Given the description of an element on the screen output the (x, y) to click on. 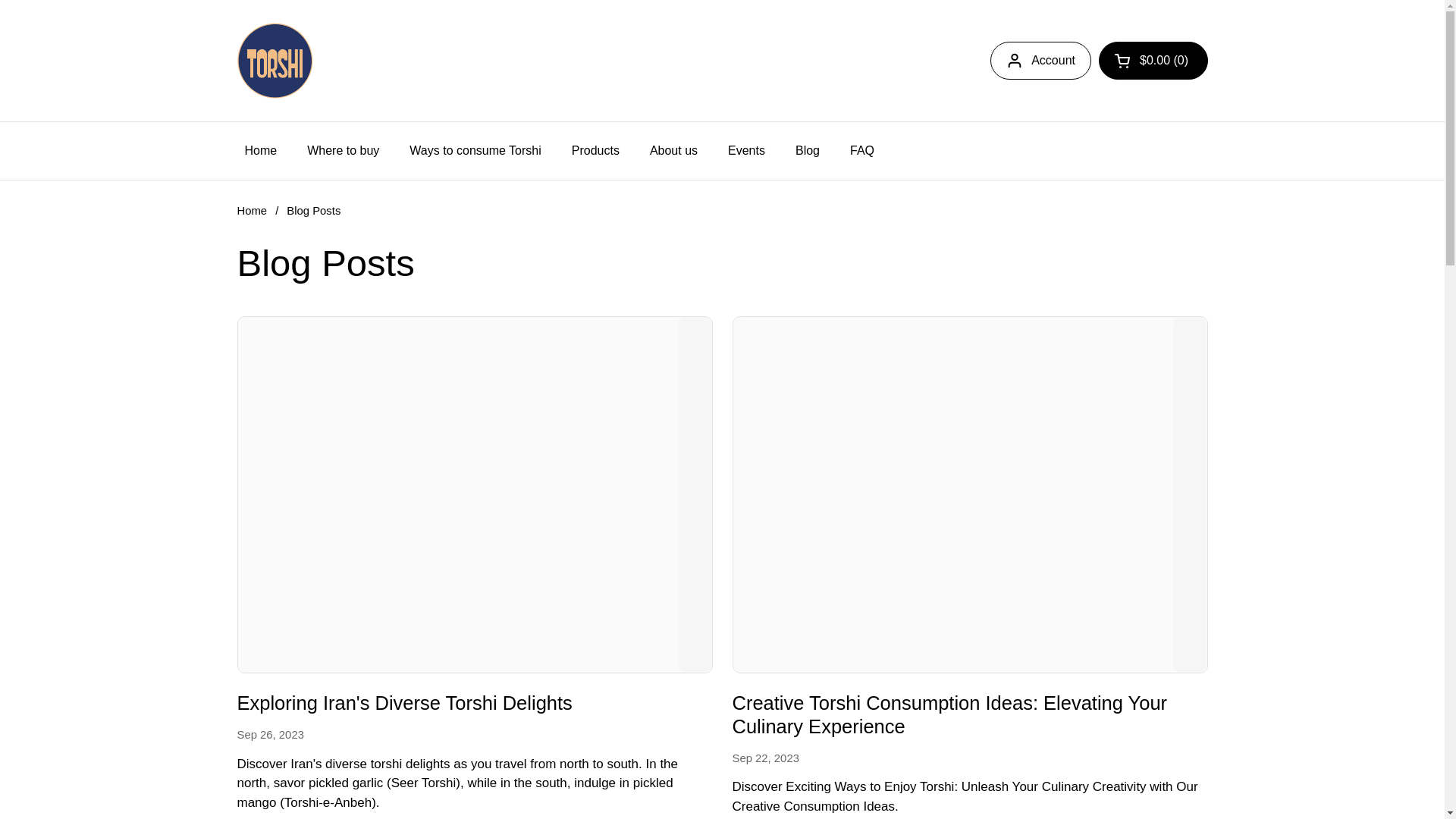
About us (673, 150)
FAQ (861, 150)
Products (595, 150)
Open cart (1153, 60)
Torshi (274, 60)
Exploring Iran's Diverse Torshi Delights (403, 705)
Exploring Iran's Diverse Torshi Delights (403, 705)
